Given the description of an element on the screen output the (x, y) to click on. 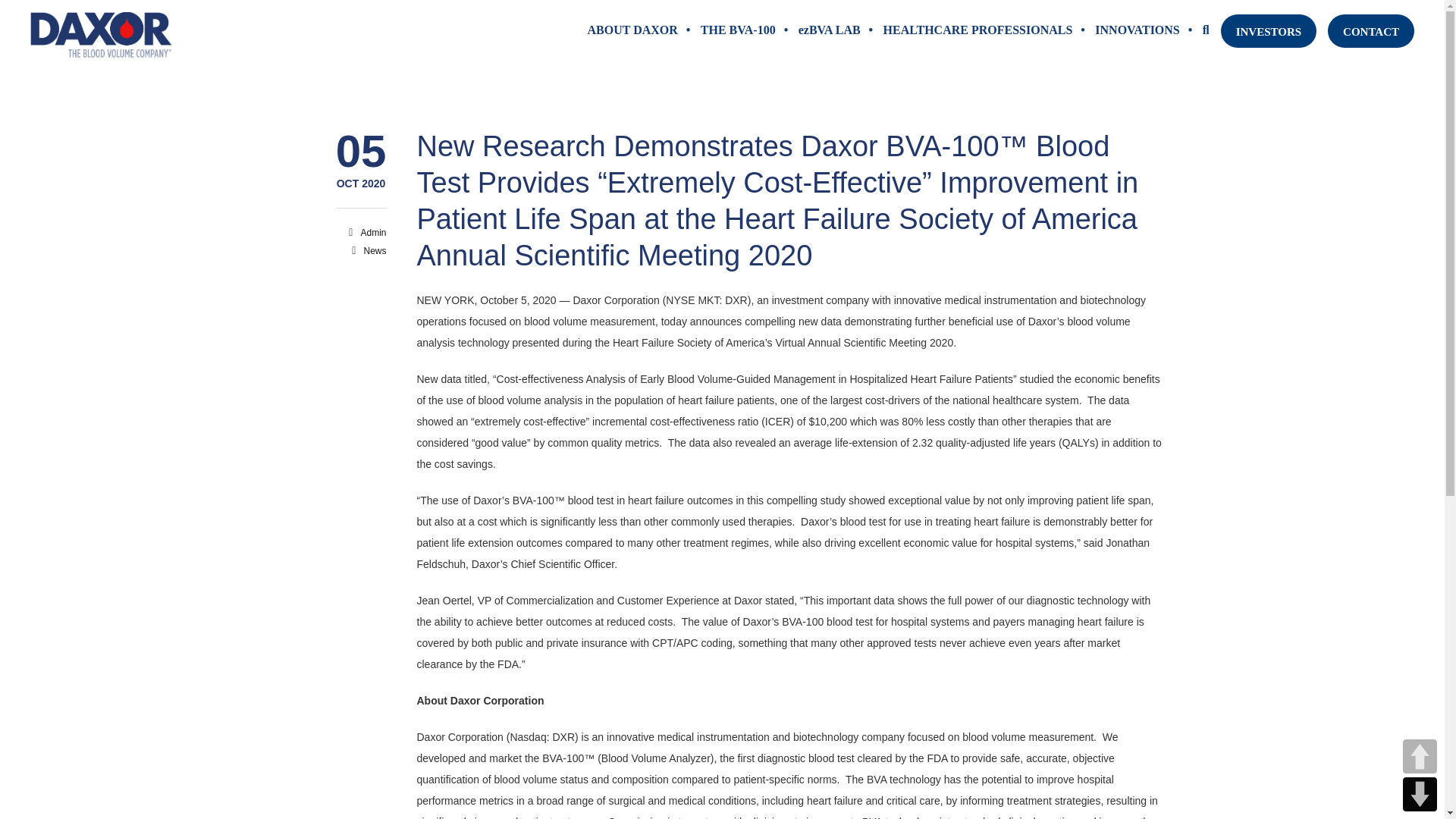
THE BVA-100 (737, 30)
INNOVATIONS (1137, 30)
HEALTHCARE PROFESSIONALS (978, 30)
Posts by admin (372, 232)
ABOUT DAXOR (632, 30)
ezBVA LAB (829, 30)
INVESTORS (1268, 30)
